Given the description of an element on the screen output the (x, y) to click on. 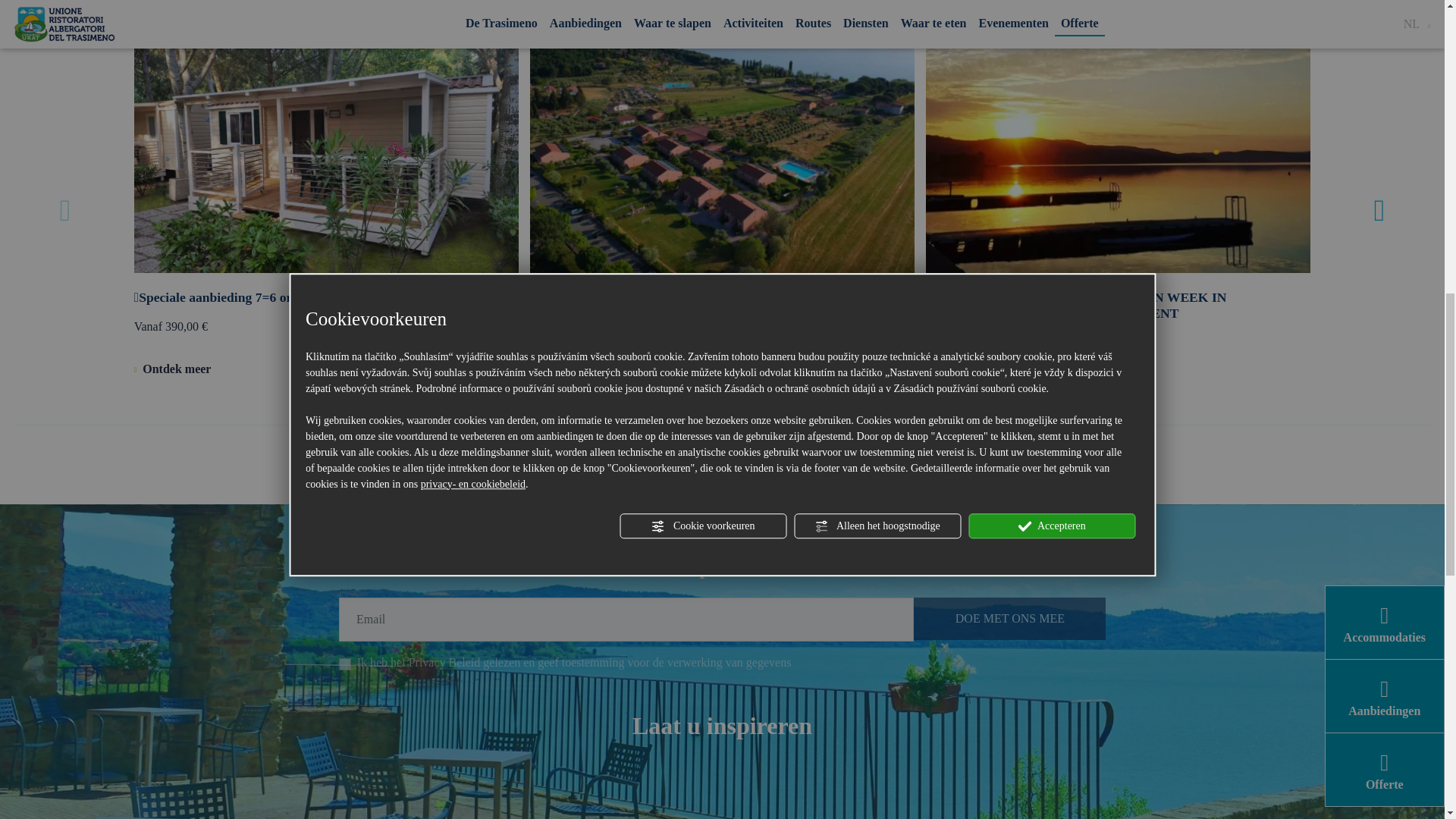
on (344, 664)
